Given the description of an element on the screen output the (x, y) to click on. 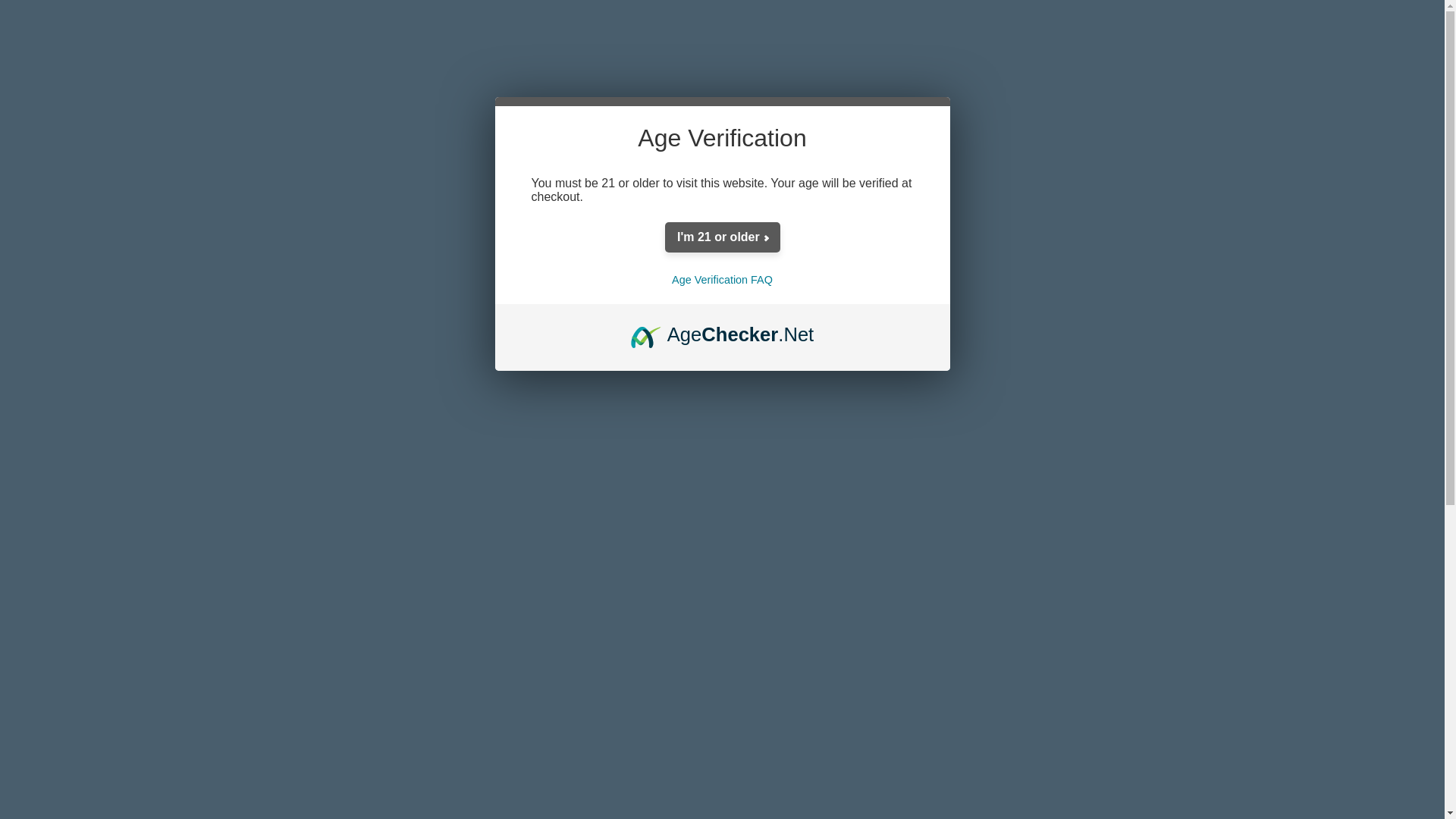
Add to Wish List (997, 519)
CART 0 (1125, 109)
GIFTS (1058, 202)
Add to Wish List (997, 519)
ROCKY PATEL FIFTEENTH ANNIVERSARY (539, 235)
Premier Tobacconist (459, 109)
CIGARS (309, 202)
Locations (1061, 19)
TOBACCO (631, 202)
ACCESSORIES (849, 202)
BUNDLES (533, 202)
ROCKY PATEL 15TH ANNIVERSARY TORO (710, 235)
CONTACT (1184, 19)
HOME (292, 235)
1 (732, 471)
